Given the description of an element on the screen output the (x, y) to click on. 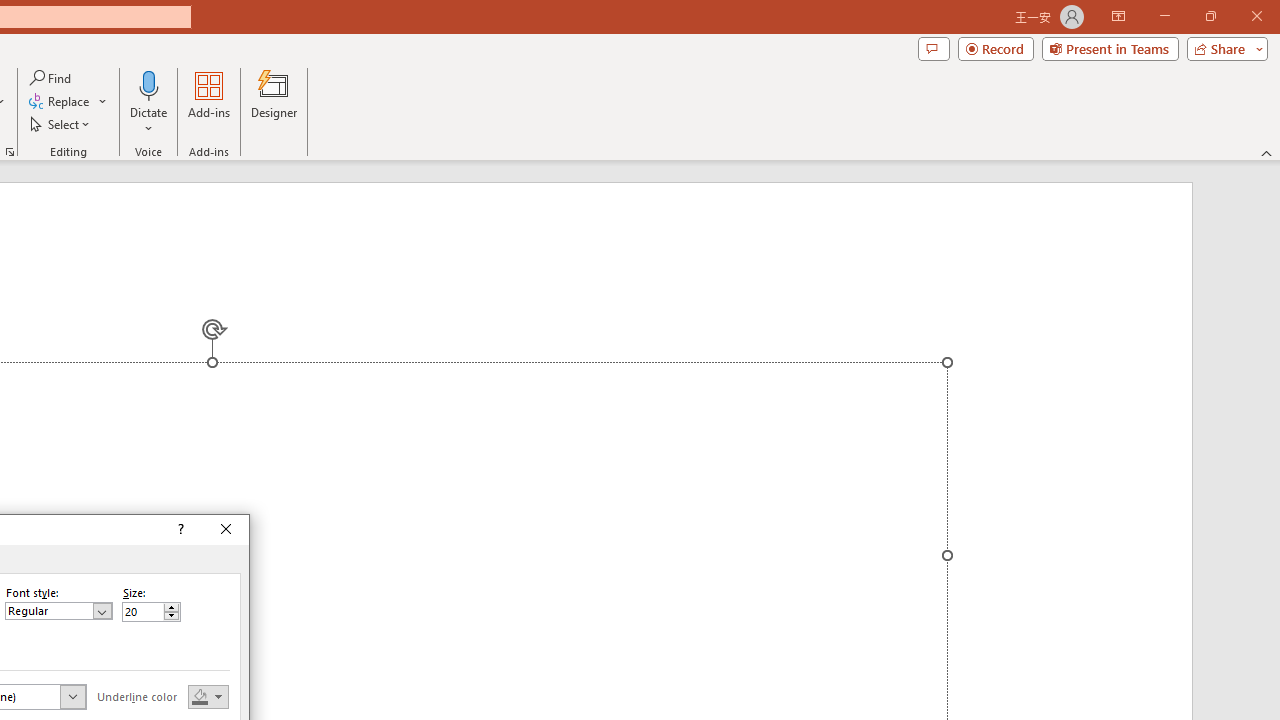
Font style (58, 610)
